Given the description of an element on the screen output the (x, y) to click on. 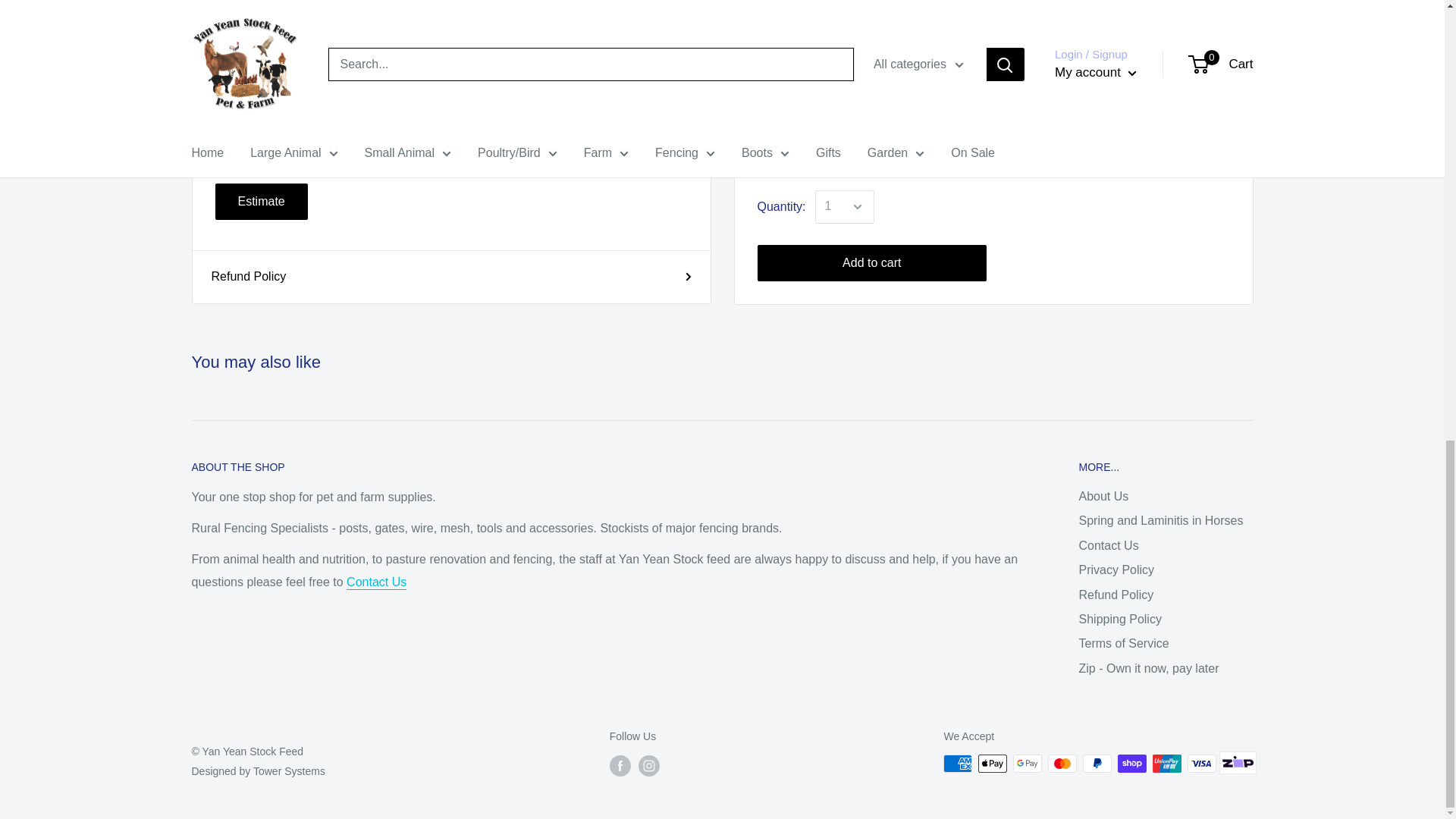
Contact Us (376, 581)
